Given the description of an element on the screen output the (x, y) to click on. 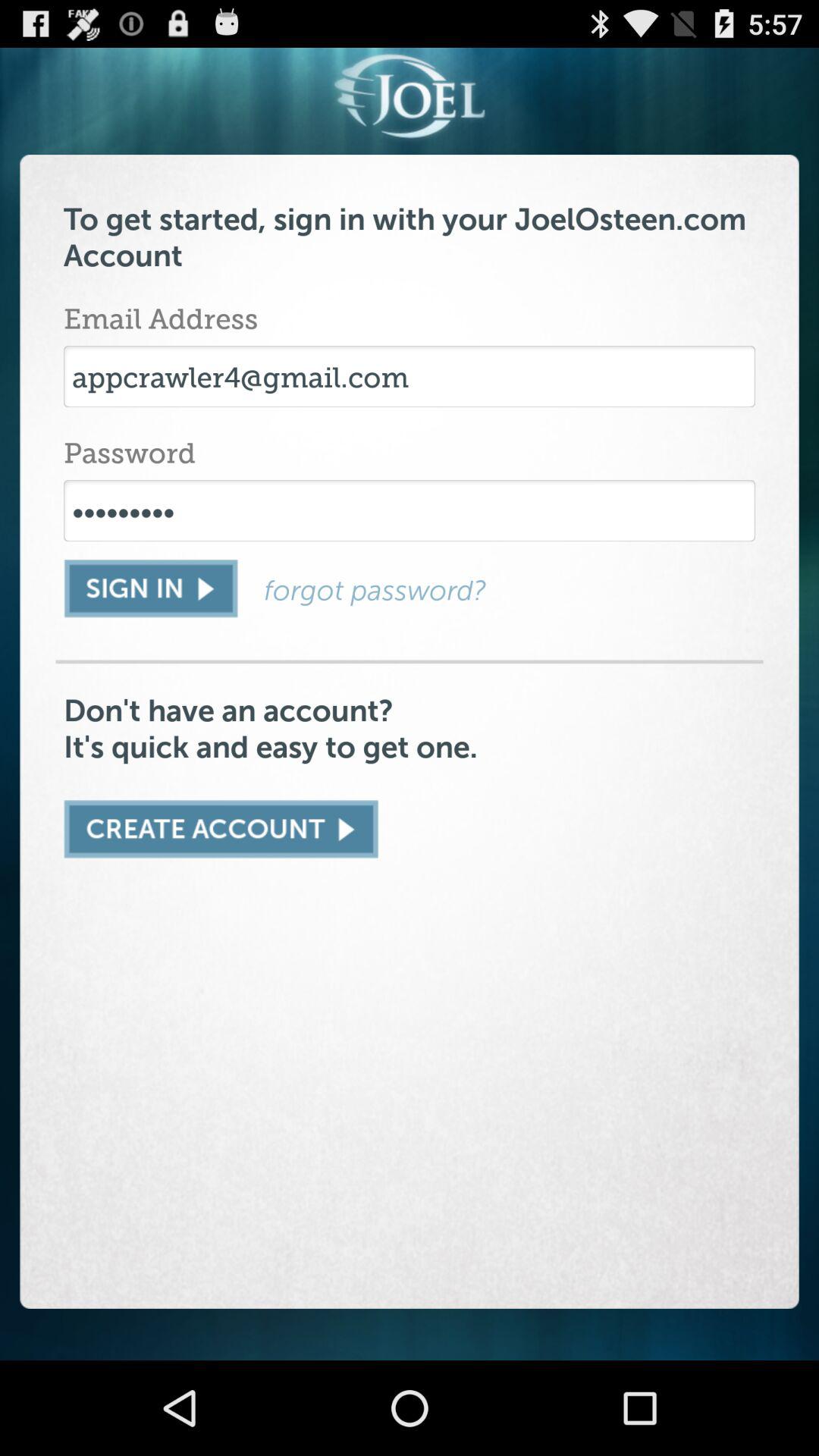
turn off the item below crowd3116 (509, 590)
